Given the description of an element on the screen output the (x, y) to click on. 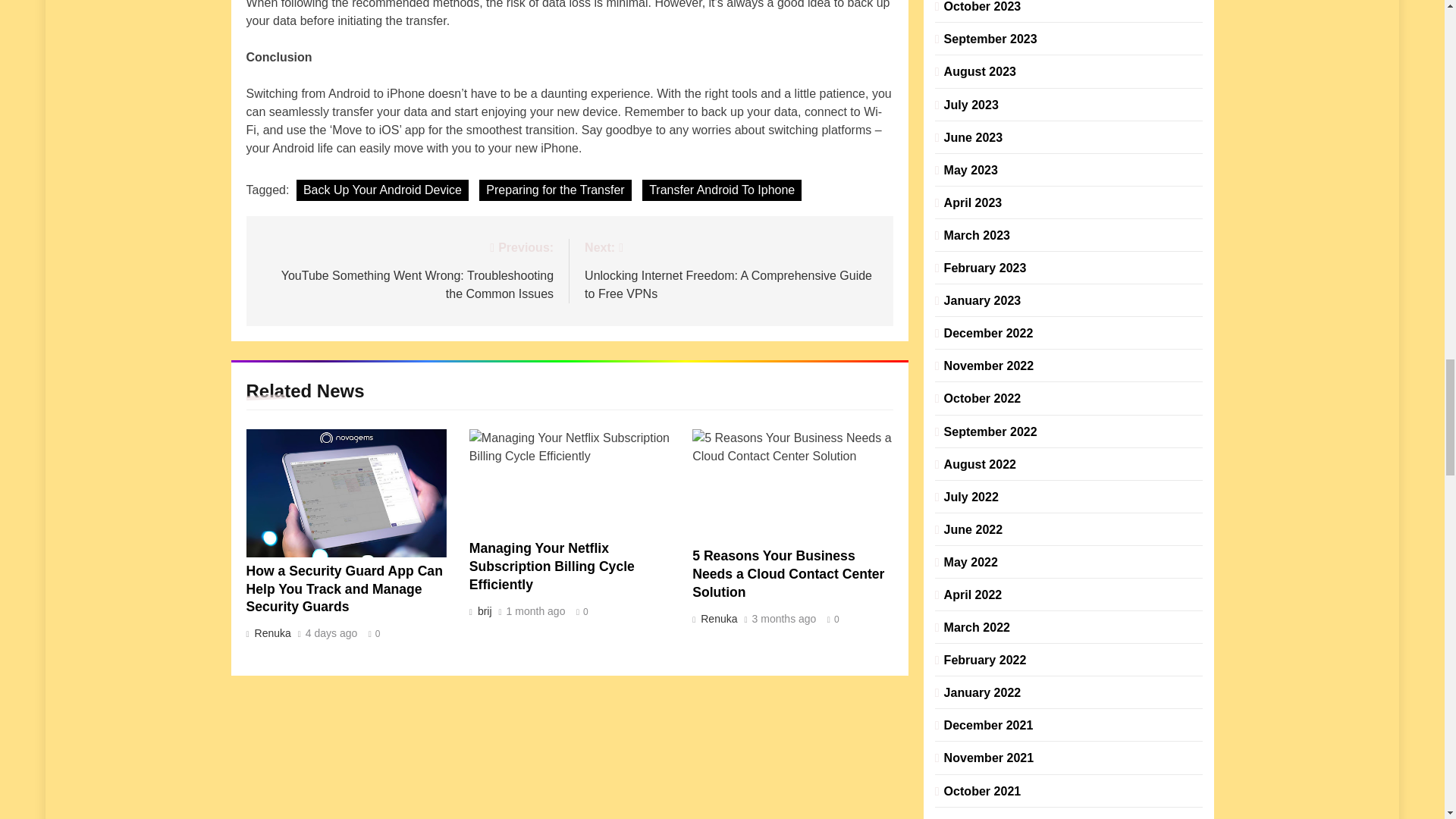
Managing Your Netflix Subscription Billing Cycle Efficiently (568, 481)
